Given the description of an element on the screen output the (x, y) to click on. 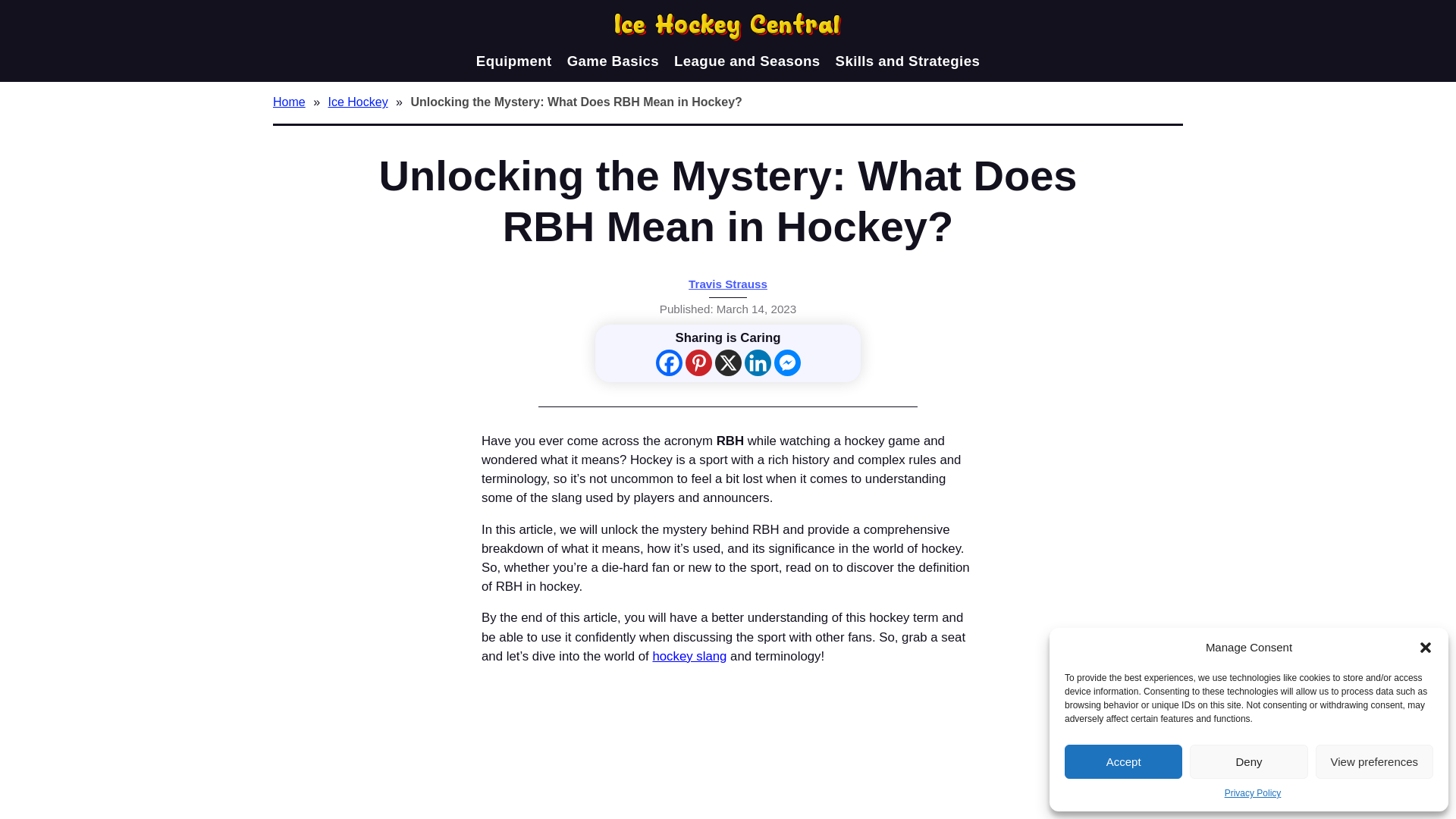
Home (291, 101)
Accept (1123, 761)
Linkedin (757, 362)
hockey slang (689, 656)
Equipment (513, 61)
Pinterest (698, 362)
Privacy Policy (1252, 793)
Ice Hockey (359, 101)
View preferences (1374, 761)
hockey slang (689, 656)
League and Seasons (746, 61)
Deny (1248, 761)
X (727, 362)
Skills and Strategies (907, 61)
Travis Strauss (727, 283)
